Given the description of an element on the screen output the (x, y) to click on. 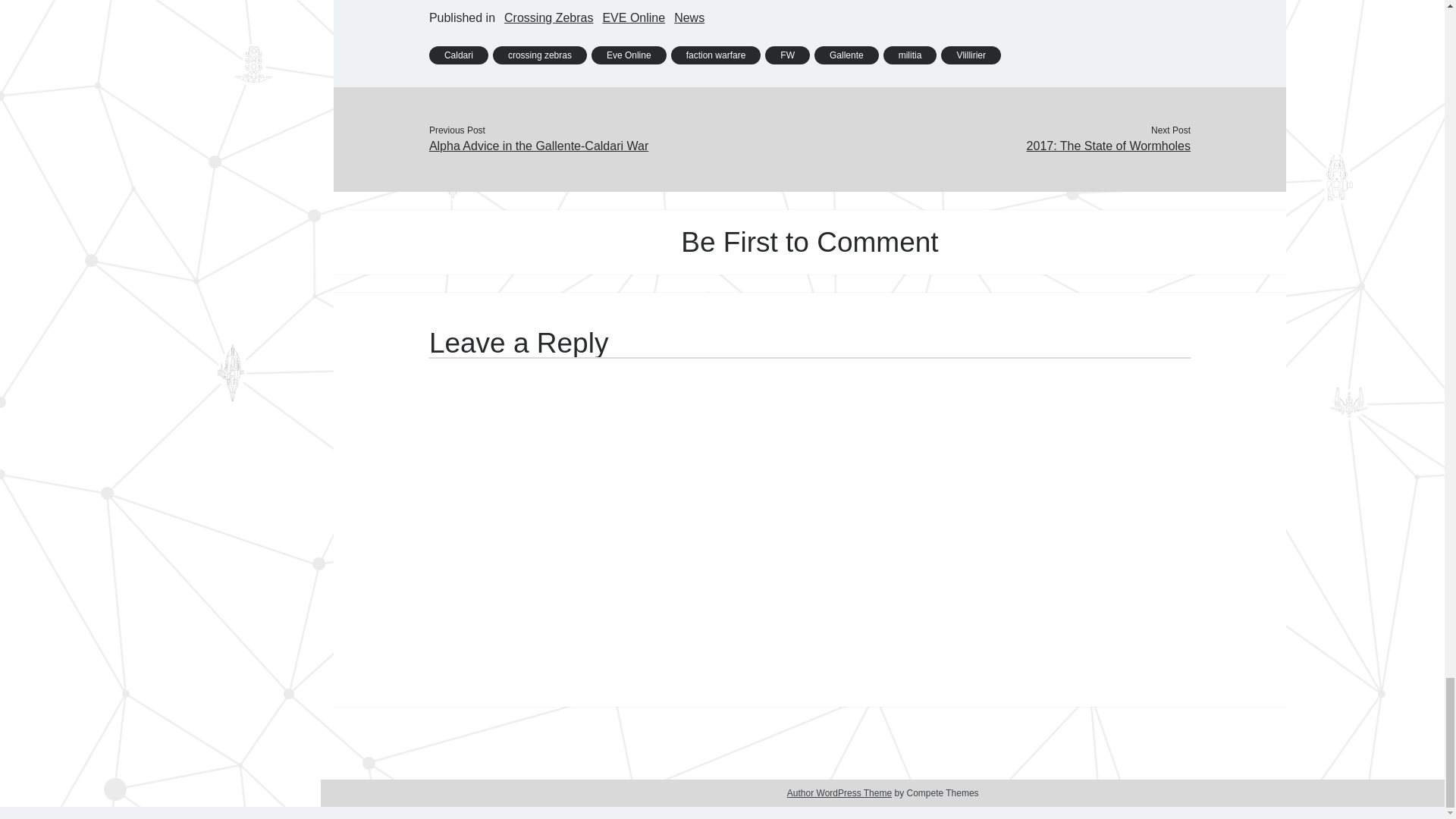
View all posts tagged faction warfare (716, 54)
View all posts in Crossing Zebras (547, 18)
View all posts tagged FW (787, 54)
View all posts tagged Eve Online (628, 54)
View all posts tagged Caldari (458, 54)
View all posts in News (689, 18)
View all posts tagged Vlillirier (970, 54)
View all posts tagged crossing zebras (539, 54)
View all posts tagged Gallente (846, 54)
View all posts in EVE Online (633, 18)
View all posts tagged militia (910, 54)
